Given the description of an element on the screen output the (x, y) to click on. 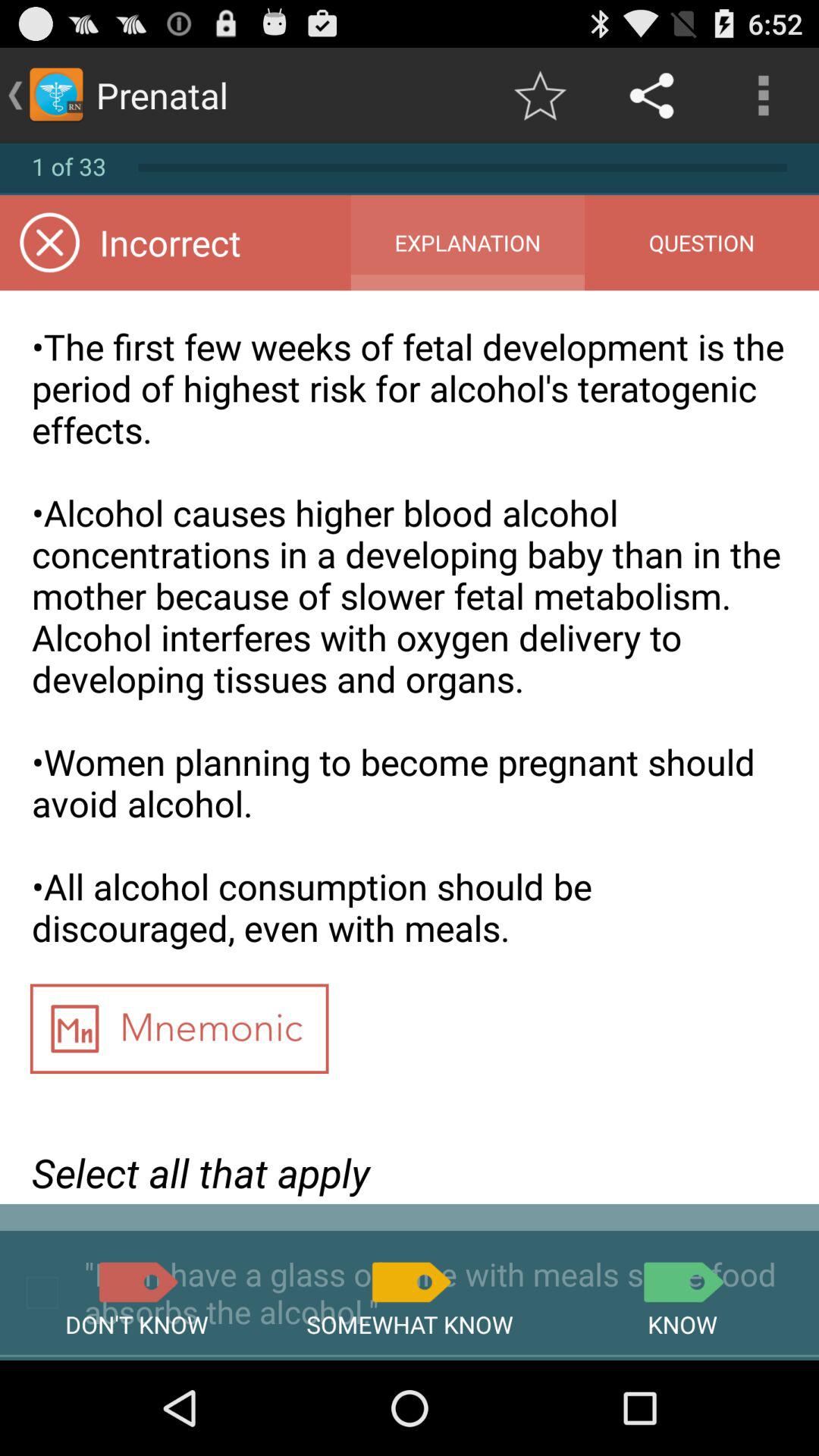
tap the icon above the first few item (701, 242)
